Given the description of an element on the screen output the (x, y) to click on. 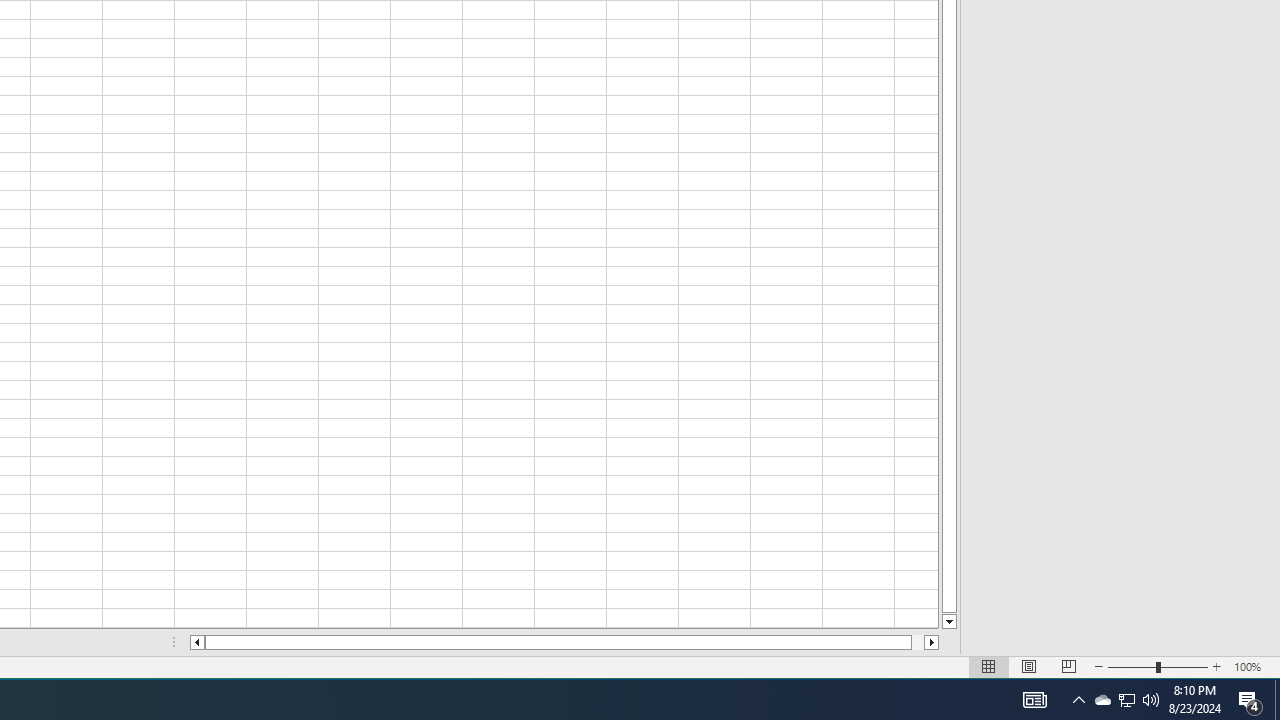
Action Center, 4 new notifications (1250, 699)
